Given the description of an element on the screen output the (x, y) to click on. 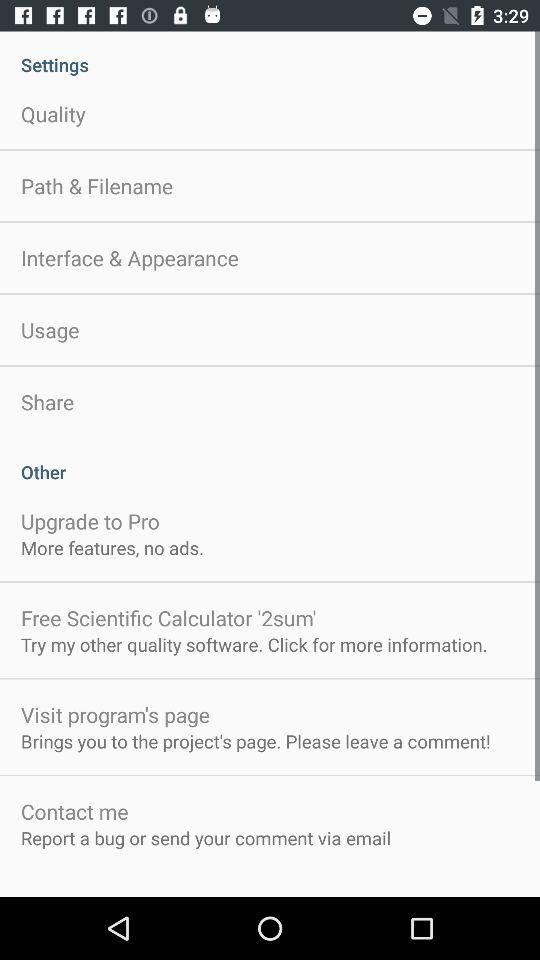
click the item above the try my other item (168, 617)
